Given the description of an element on the screen output the (x, y) to click on. 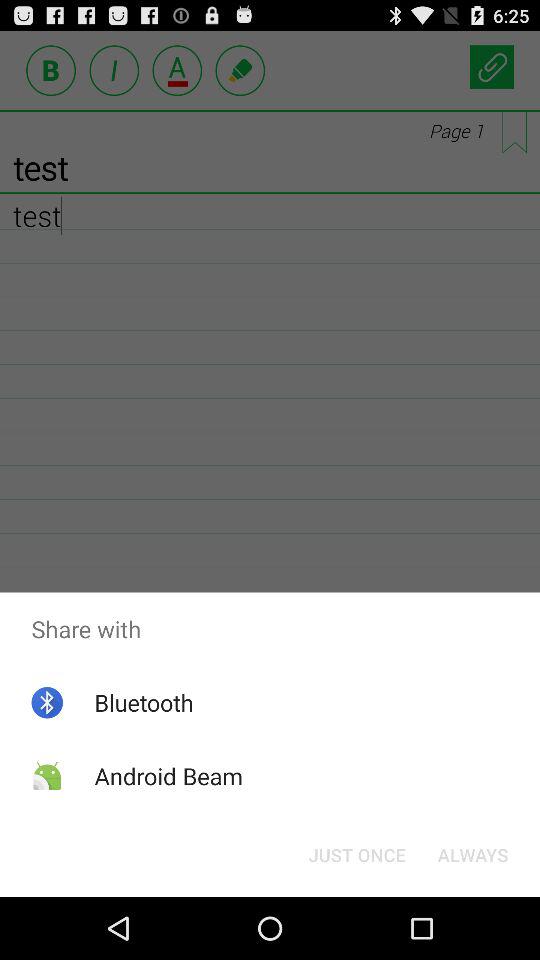
flip until always (472, 854)
